Given the description of an element on the screen output the (x, y) to click on. 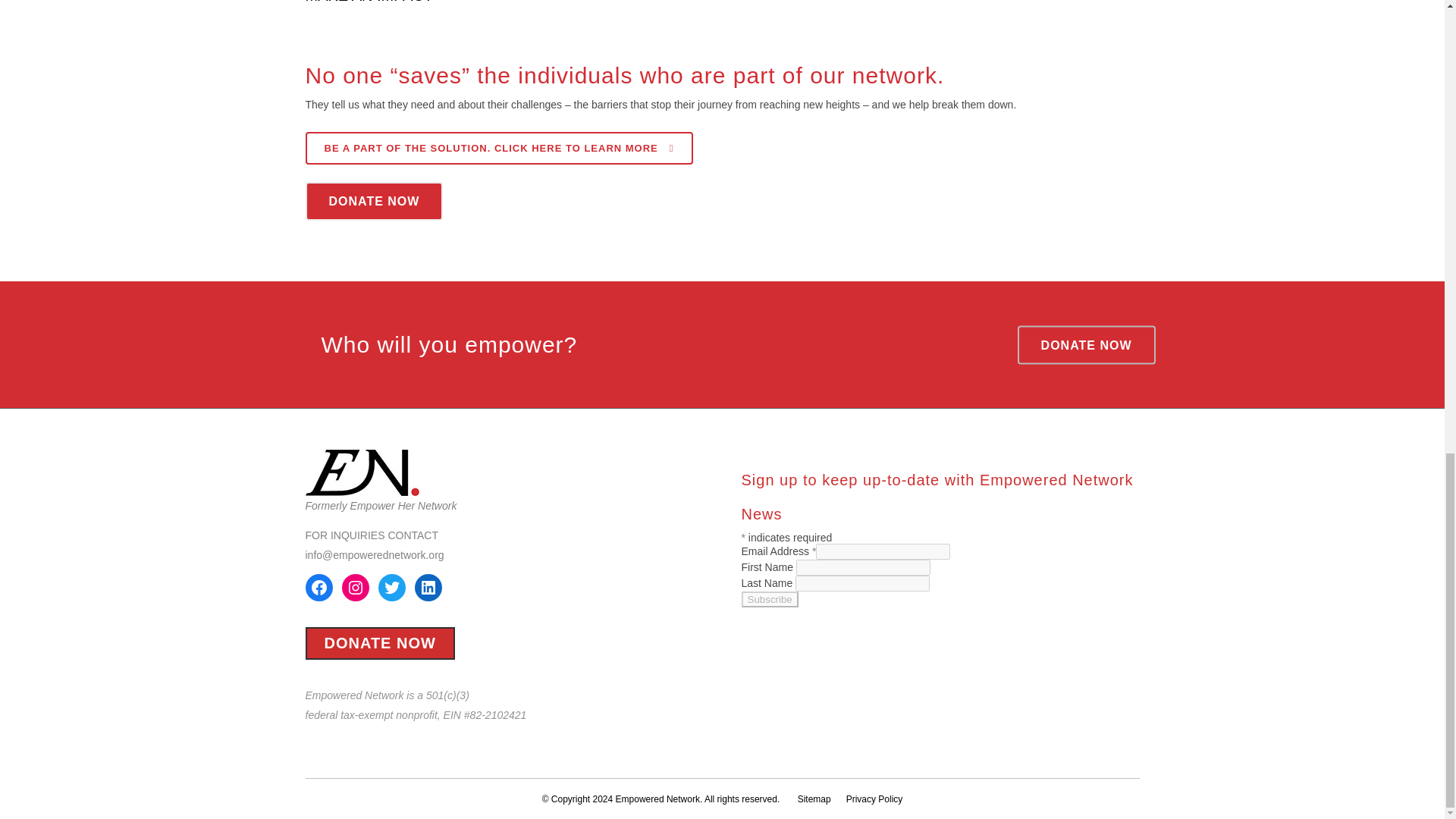
Subscribe (769, 599)
